Given the description of an element on the screen output the (x, y) to click on. 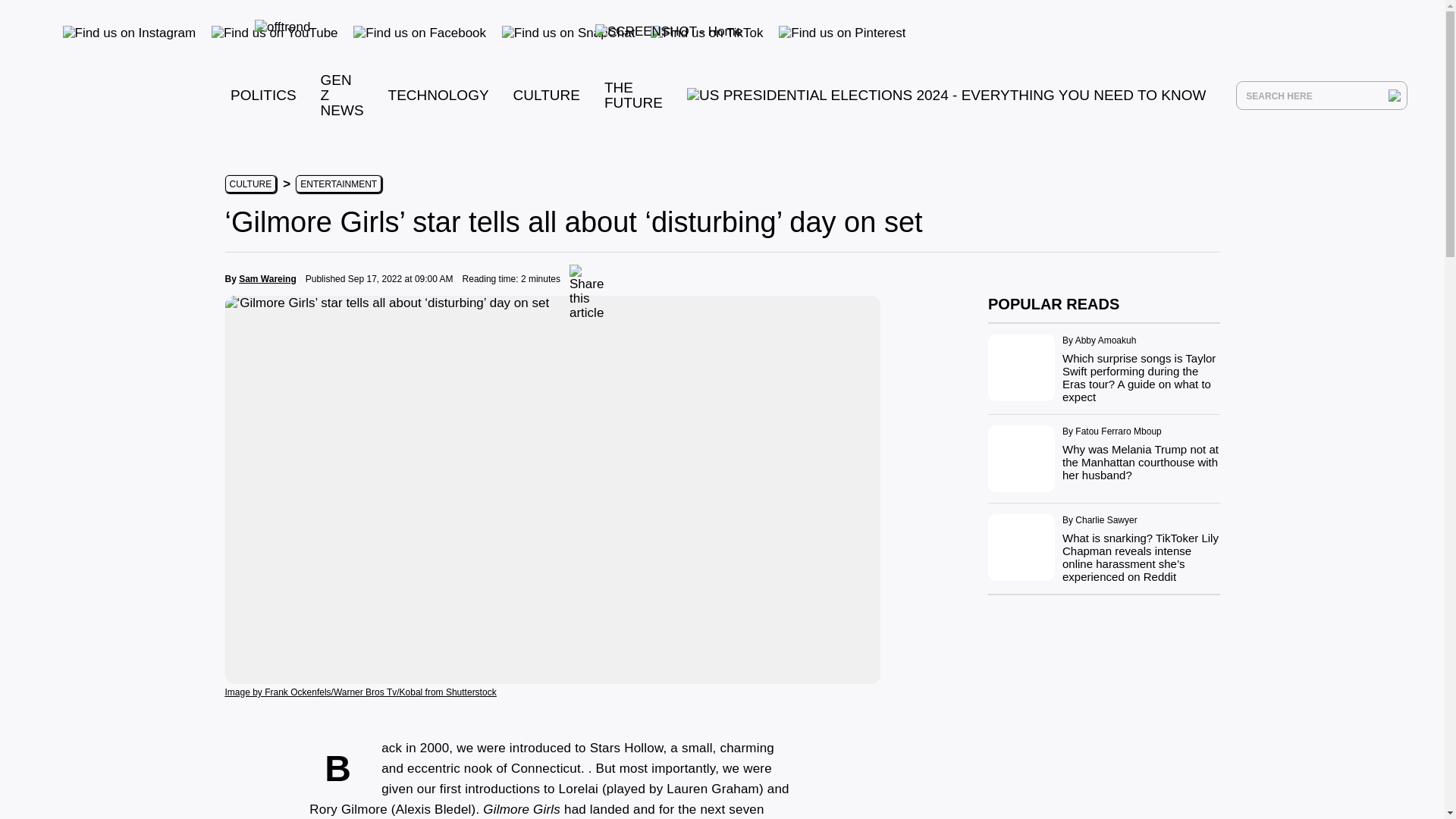
Sam Wareing (267, 278)
ENTERTAINMENT (338, 184)
POLITICS (263, 94)
CULTURE (546, 94)
TECHNOLOGY (438, 94)
CULTURE (249, 184)
GEN Z NEWS (342, 94)
THE FUTURE (633, 94)
